Given the description of an element on the screen output the (x, y) to click on. 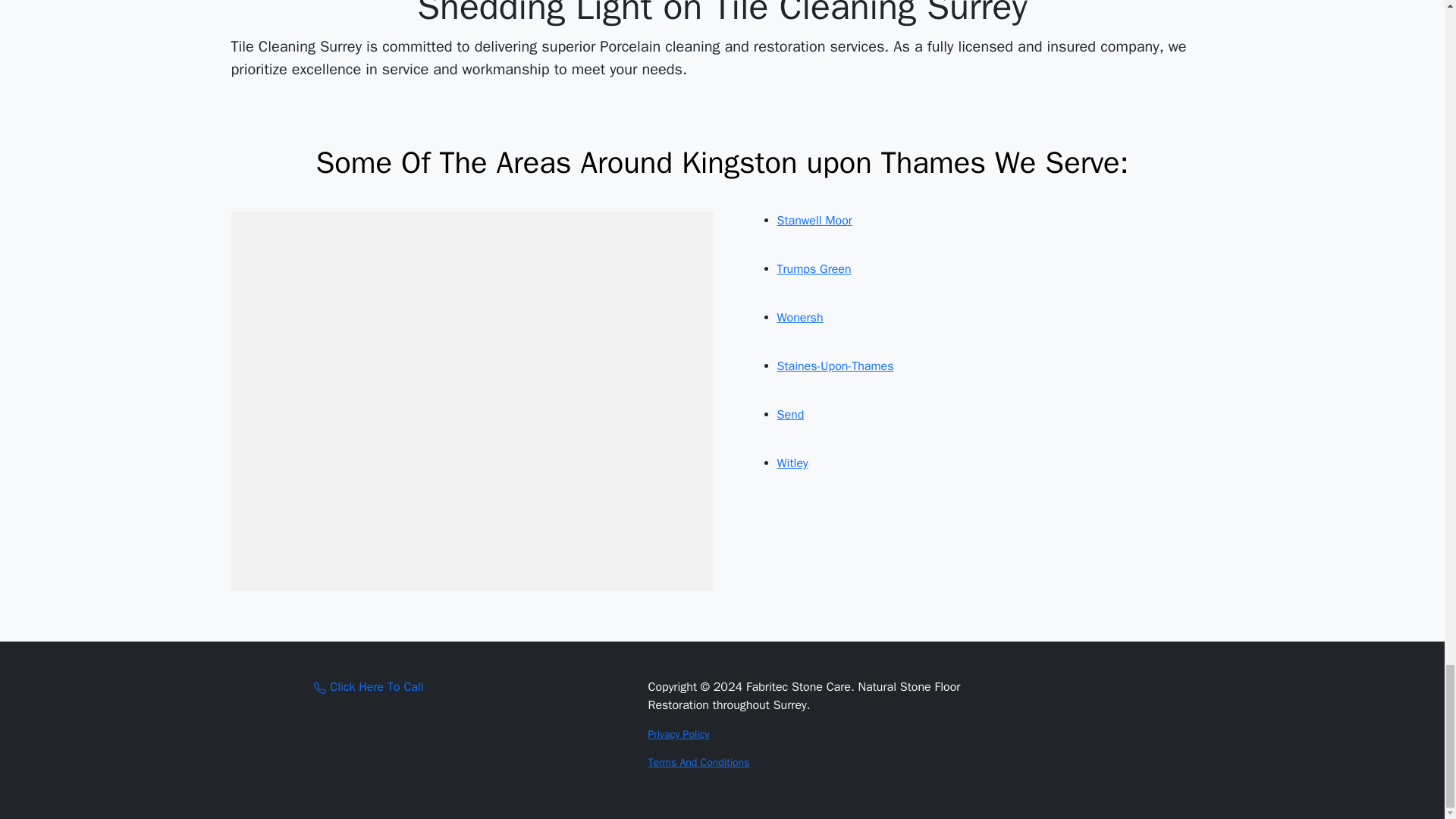
Trumps Green (813, 268)
: Click Here To Call (368, 687)
Privacy Policy (678, 734)
Witley (792, 462)
Wonersh (799, 317)
Send (789, 414)
Wonersh (799, 317)
Staines-Upon-Thames (834, 365)
: (320, 687)
